Given the description of an element on the screen output the (x, y) to click on. 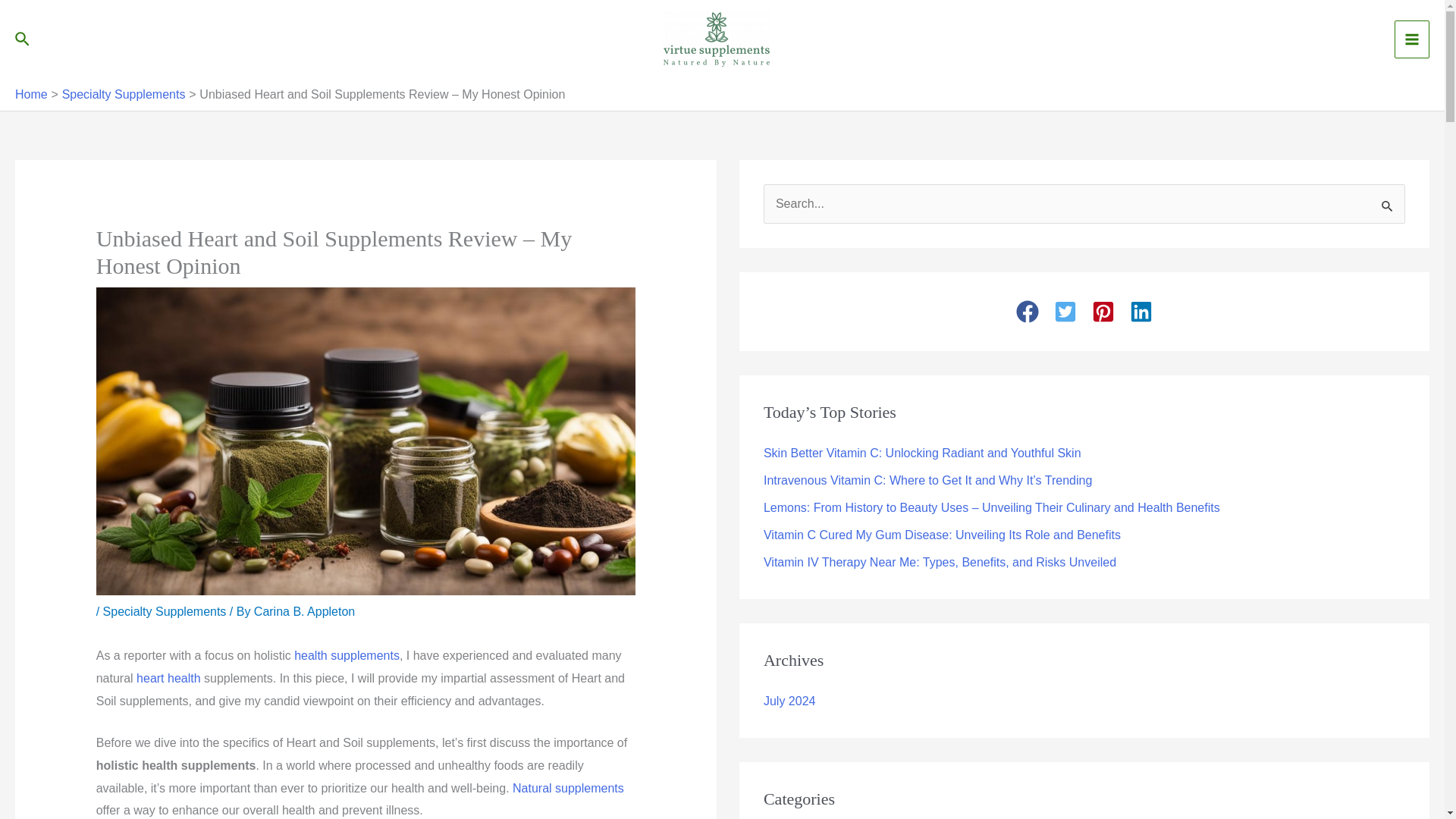
Carina B. Appleton (304, 611)
Natural supplements (568, 788)
heart health (168, 677)
Specialty Supplements (124, 93)
health (310, 655)
Home (31, 93)
supplements (364, 655)
View all posts by Carina B. Appleton (304, 611)
Specialty Supplements (165, 611)
Main Menu (1411, 39)
